Given the description of an element on the screen output the (x, y) to click on. 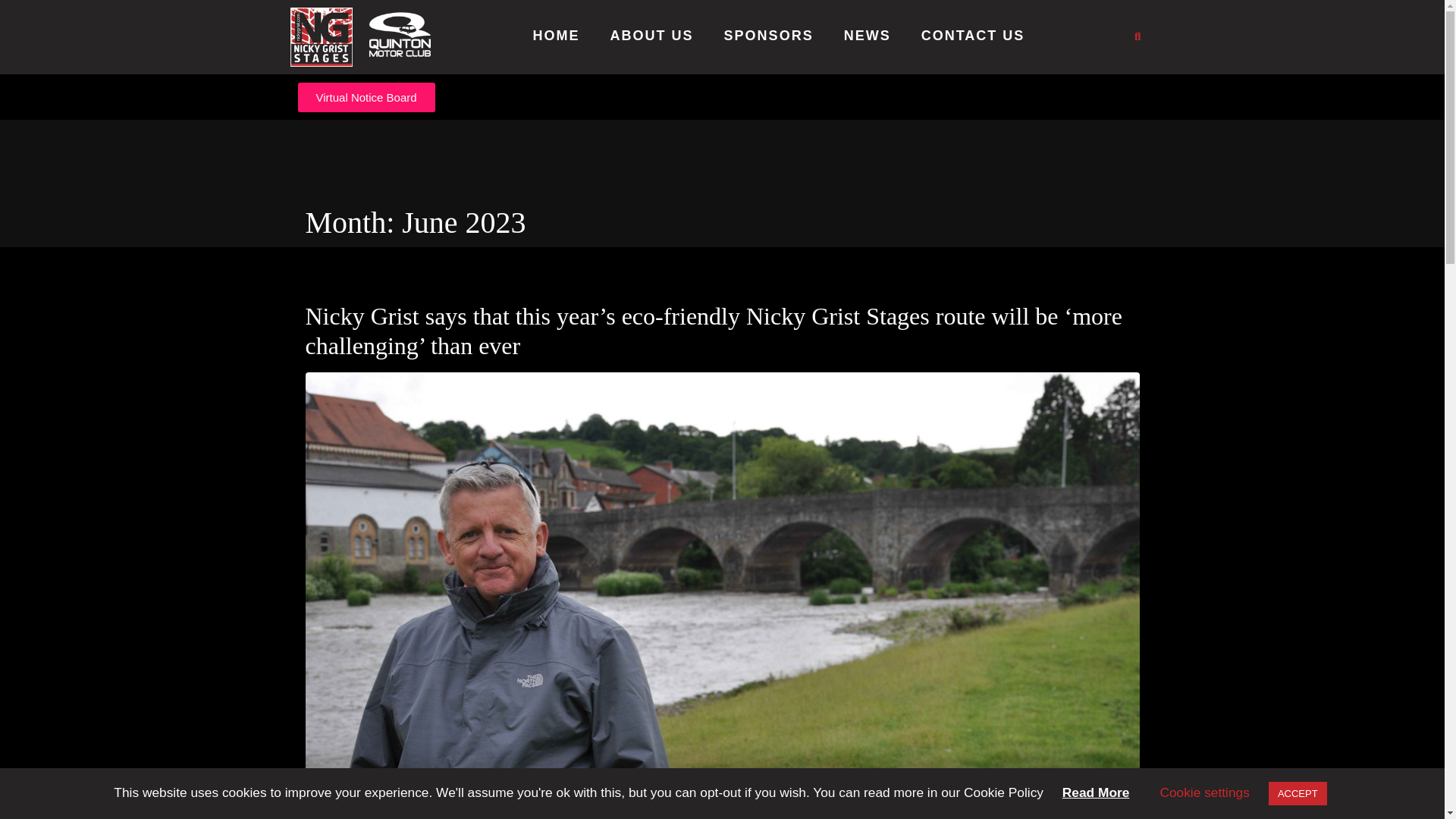
ABOUT US (652, 36)
HOME (555, 36)
SPONSORS (768, 36)
NEWS (867, 36)
CONTACT US (973, 36)
